Given the description of an element on the screen output the (x, y) to click on. 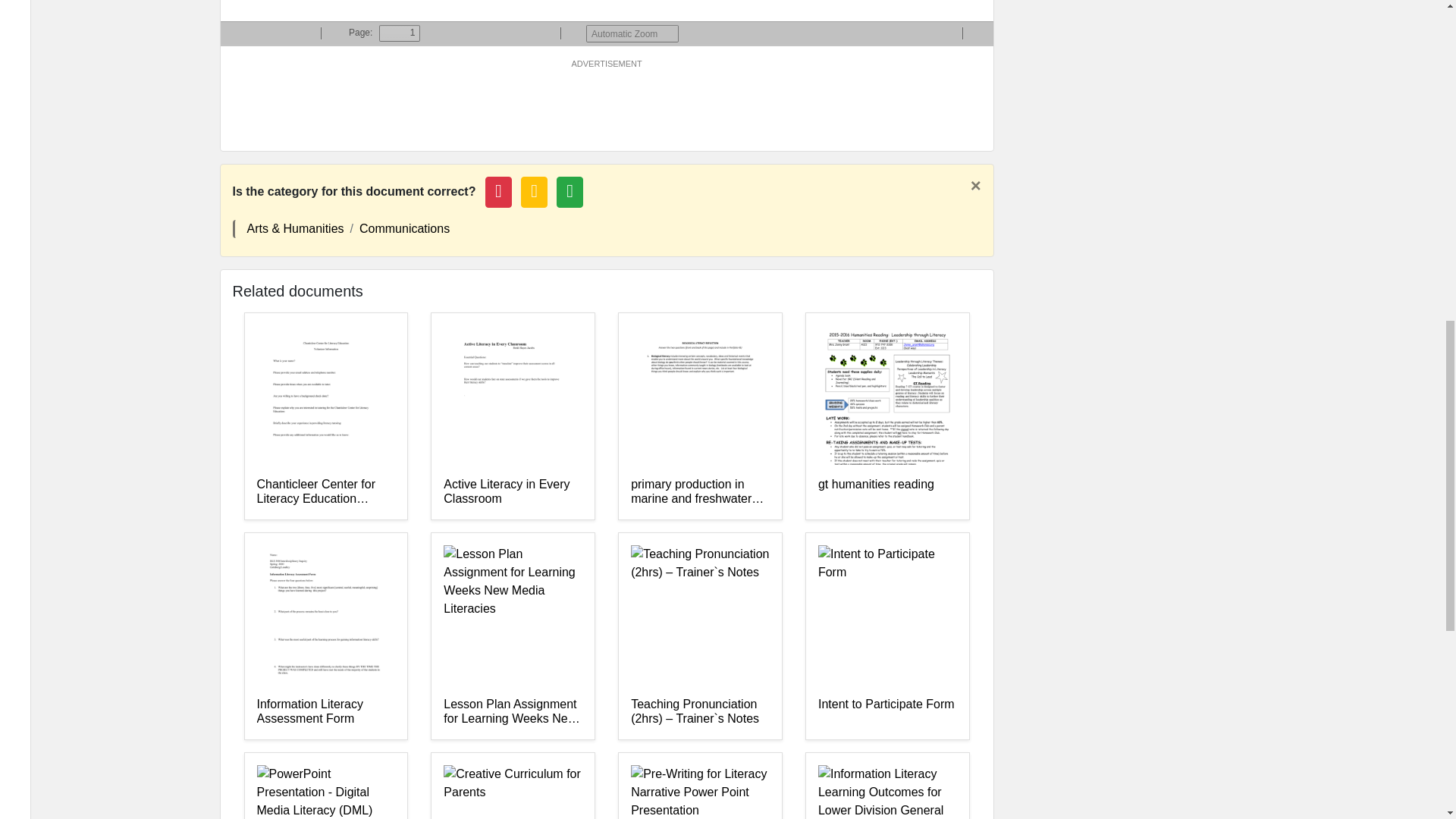
Active Literacy in Every Classroom (513, 491)
gt humanities reading (887, 491)
Communications (404, 228)
Intent to Participate Form (887, 711)
gt humanities reading (887, 491)
Advertisement (605, 104)
Information Literacy Assessment Form (325, 711)
Information Literacy Assessment Form (325, 711)
